Given the description of an element on the screen output the (x, y) to click on. 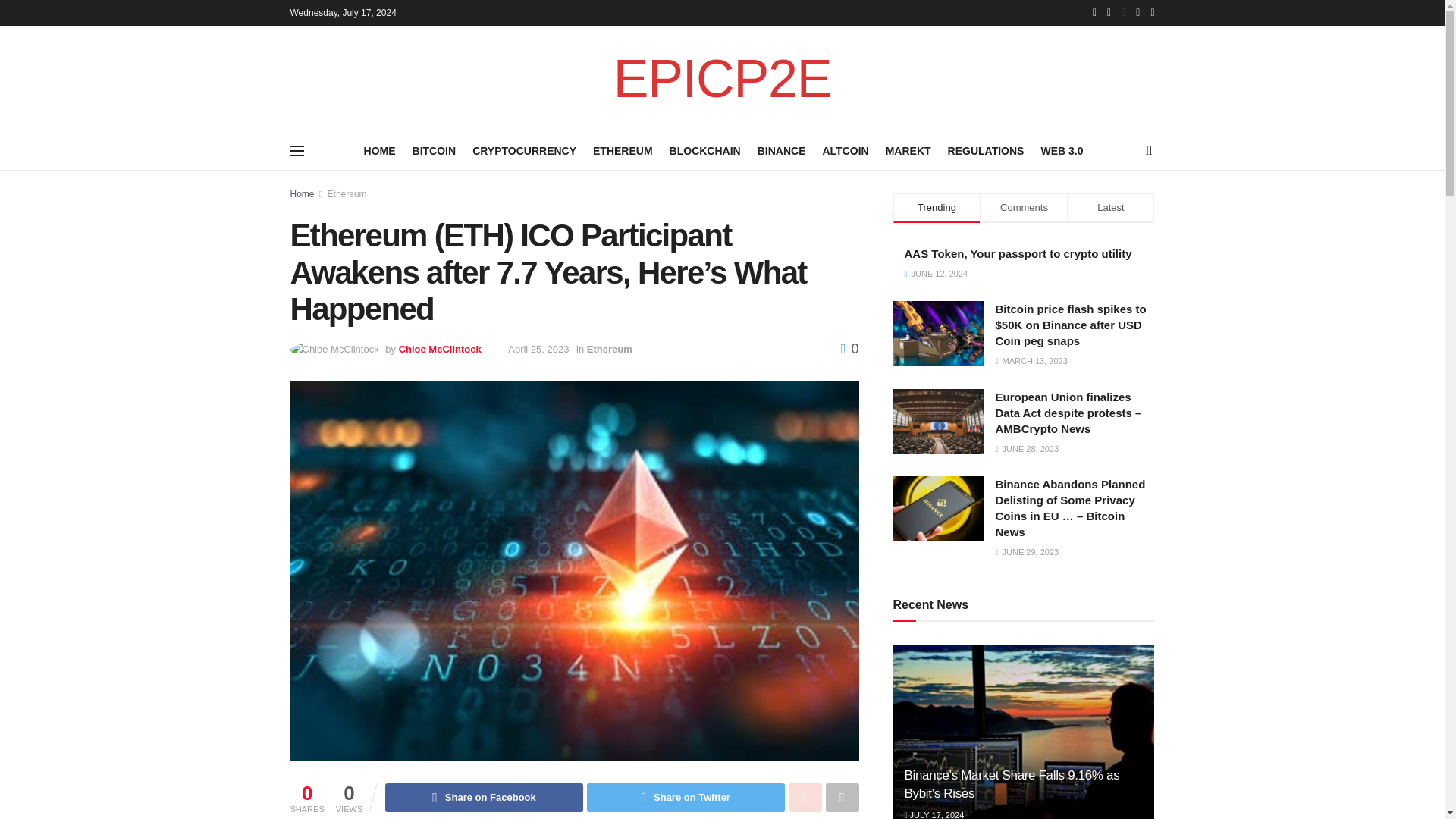
Ethereum (346, 194)
Home (301, 194)
REGULATIONS (986, 150)
MAREKT (908, 150)
0 (850, 348)
BINANCE (781, 150)
Chloe McClintock (439, 348)
ETHEREUM (622, 150)
Share on Facebook (484, 797)
WEB 3.0 (1062, 150)
Share on Twitter (685, 797)
HOME (380, 150)
BLOCKCHAIN (705, 150)
CRYPTOCURRENCY (523, 150)
EPICP2E (721, 78)
